Given the description of an element on the screen output the (x, y) to click on. 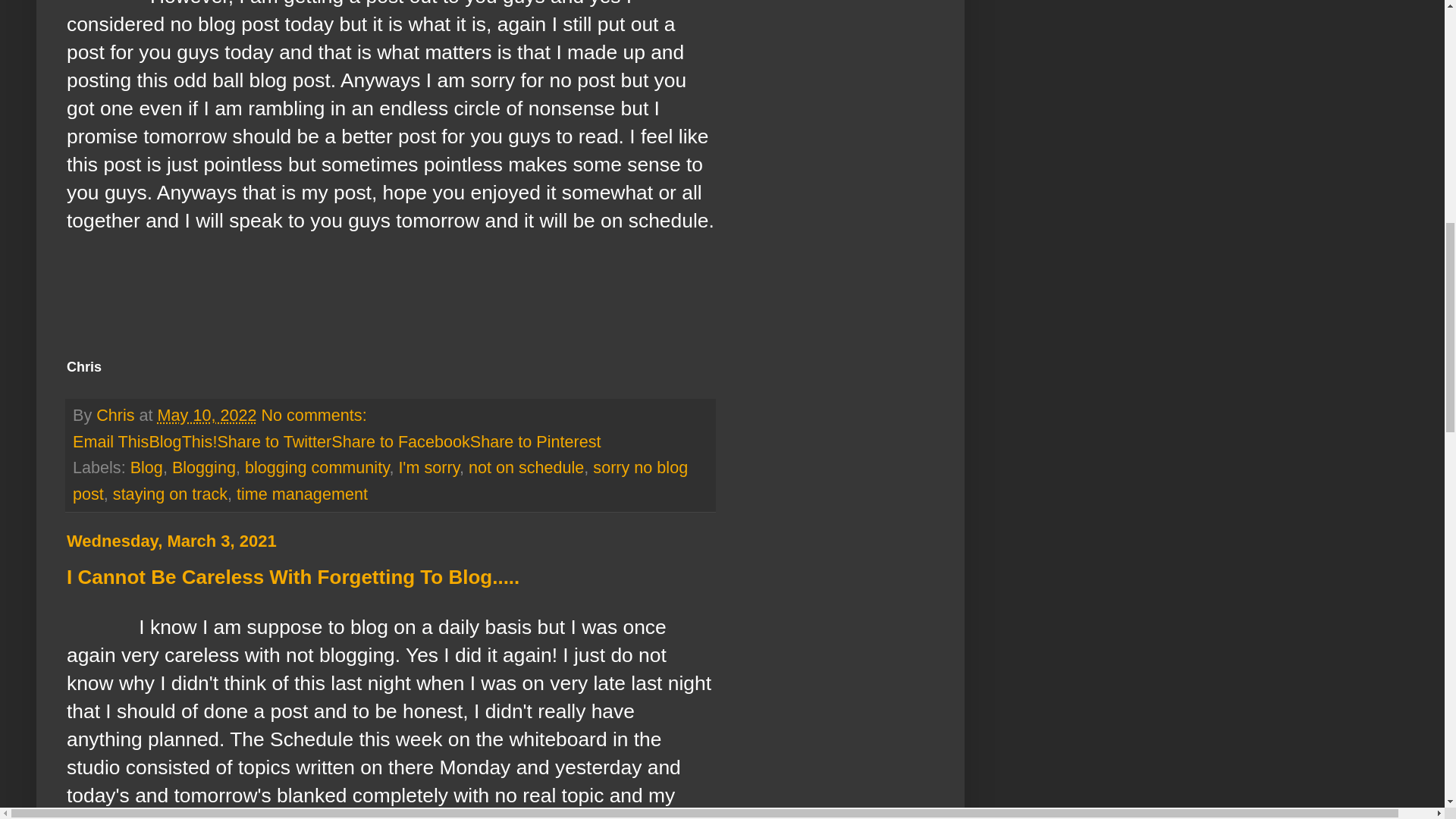
permanent link (207, 415)
time management (301, 493)
BlogThis! (182, 441)
Share to Twitter (273, 441)
sorry no blog post (379, 480)
Email This (110, 441)
Share to Twitter (273, 441)
staying on track (170, 493)
No comments: (313, 415)
I'm sorry (428, 466)
Share to Pinterest (535, 441)
Email This (110, 441)
Share to Facebook (399, 441)
BlogThis! (182, 441)
Blogging (203, 466)
